Given the description of an element on the screen output the (x, y) to click on. 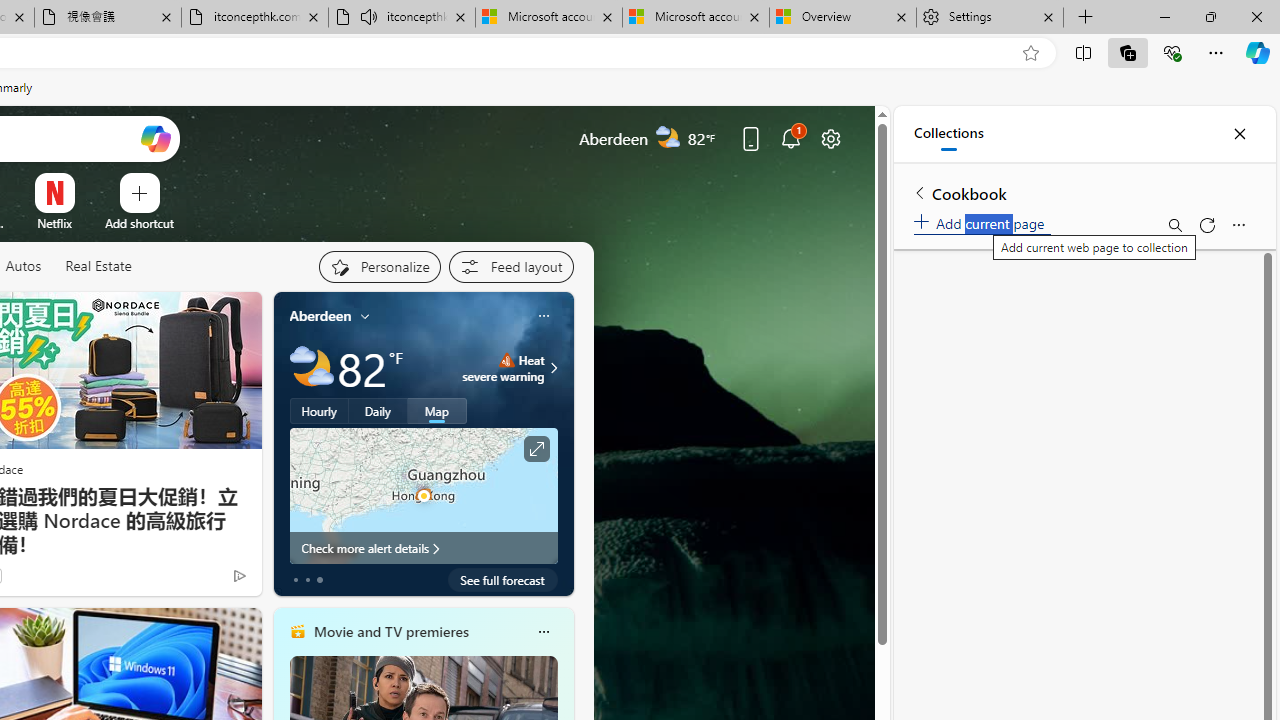
Personalize your feed" (379, 266)
Movie and TV premieres (390, 631)
Map (437, 411)
Mute tab (368, 16)
Feed settings (510, 266)
You're following Newsweek (197, 579)
